Given the description of an element on the screen output the (x, y) to click on. 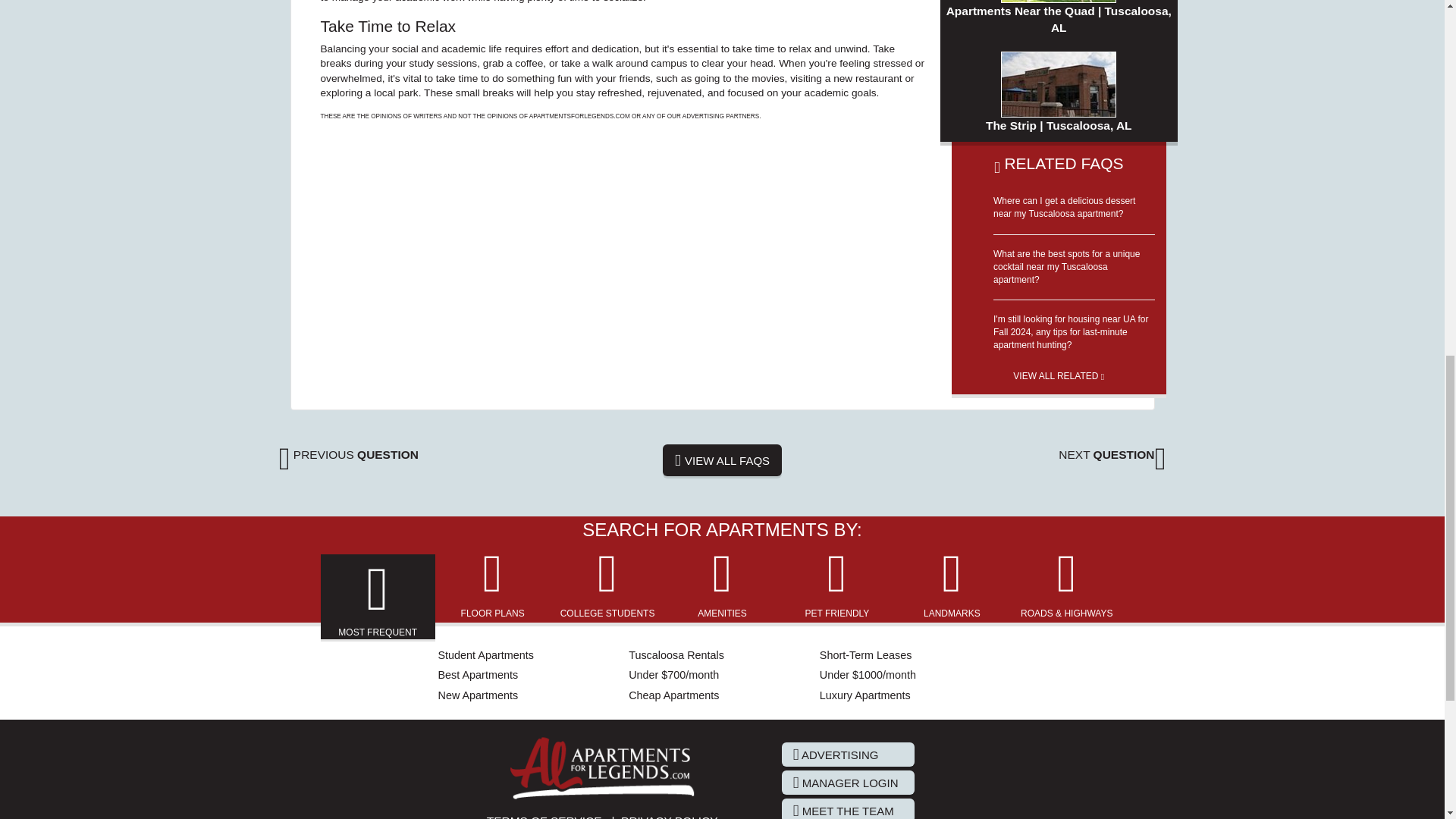
Terms of Service (544, 816)
NEXT QUESTION (1112, 454)
MOST FREQUENT (377, 598)
COLLEGE STUDENTS (607, 583)
VIEW ALL RELATED  (1058, 370)
 VIEW ALL FAQS (721, 459)
 PREVIOUS QUESTION (349, 454)
LANDMARKS (951, 583)
AMENITIES (722, 583)
FLOOR PLANS (492, 583)
Privacy Policy (669, 816)
PET FRIENDLY (837, 583)
